Given the description of an element on the screen output the (x, y) to click on. 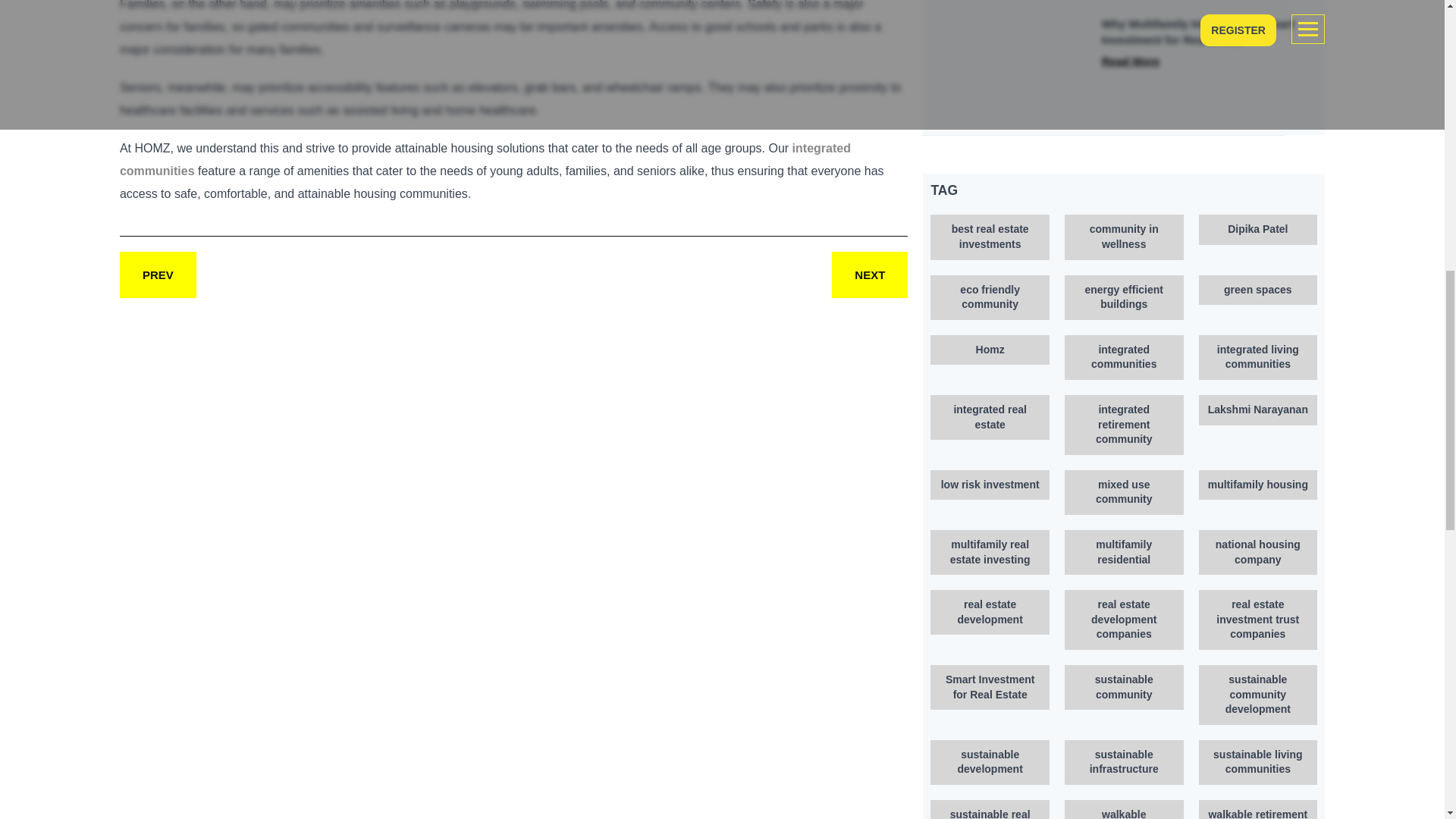
community in wellness (1123, 236)
PREV (157, 274)
integrated communities (484, 159)
Read More (1131, 60)
NEXT (869, 274)
best real estate investments (989, 236)
